Given the description of an element on the screen output the (x, y) to click on. 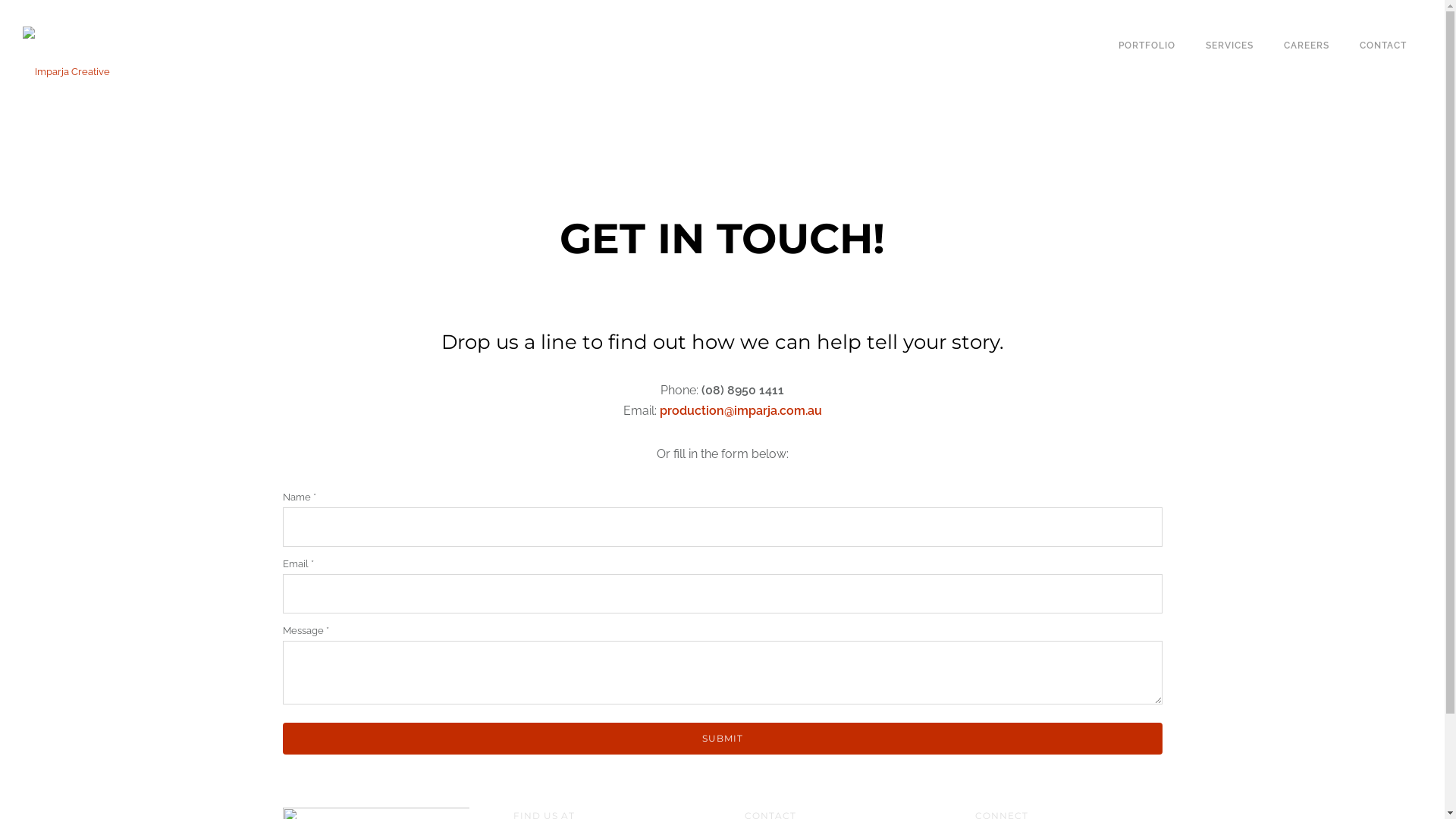
CONTACT Element type: text (1382, 45)
production@imparja.com.au Element type: text (740, 410)
CAREERS Element type: text (1306, 45)
SUBMIT Element type: text (721, 738)
SERVICES Element type: text (1229, 45)
PORTFOLIO Element type: text (1146, 45)
